Given the description of an element on the screen output the (x, y) to click on. 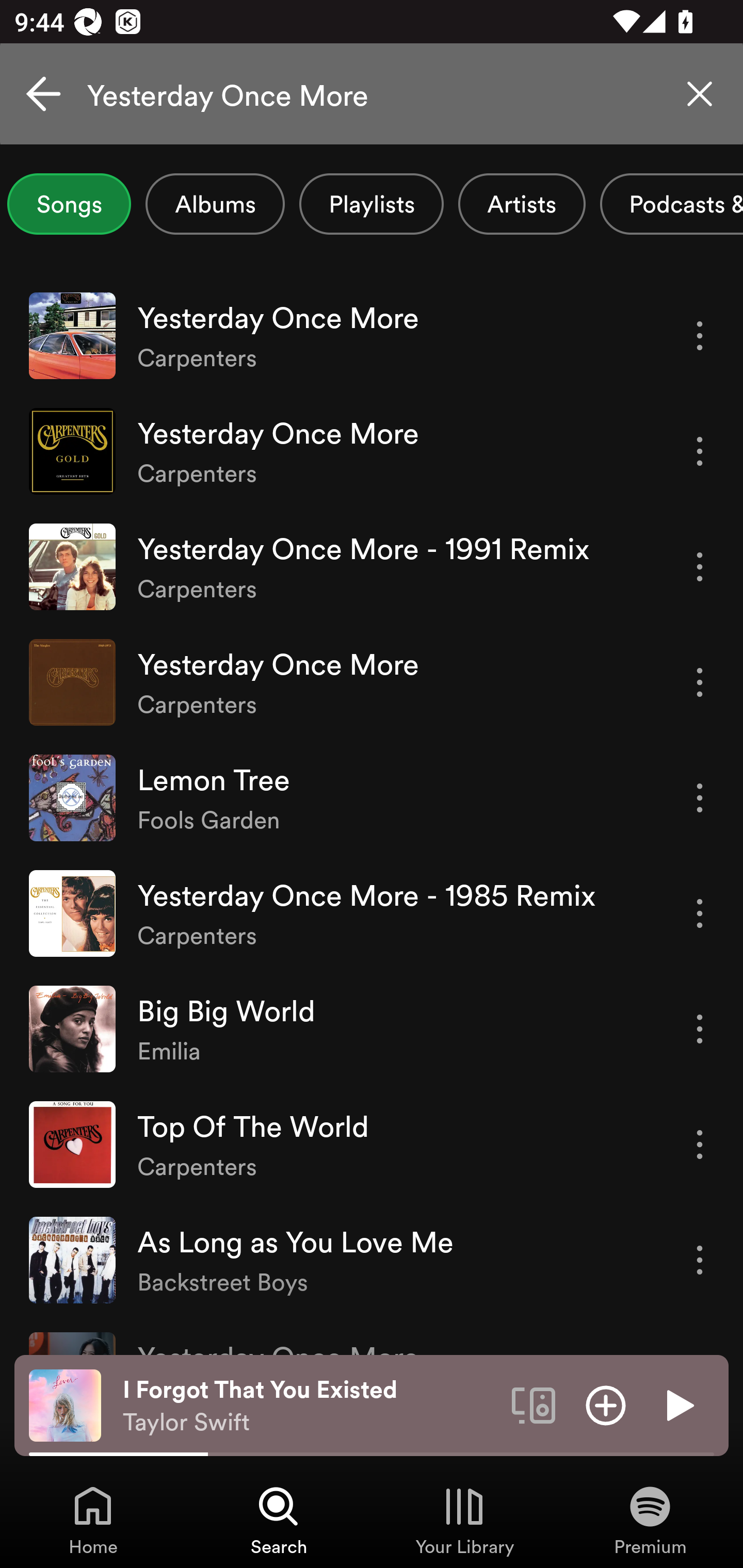
Yesterday Once More (371, 93)
Cancel (43, 93)
Clear search query (699, 93)
Songs (68, 203)
Albums (214, 203)
Playlists (371, 203)
Artists (521, 203)
Podcasts & Shows (671, 203)
More options for song Yesterday Once More (699, 336)
More options for song Yesterday Once More (699, 450)
More options for song Yesterday Once More (699, 682)
More options for song Lemon Tree (699, 798)
More options for song Big Big World (699, 1029)
More options for song Top Of The World (699, 1144)
More options for song As Long as You Love Me (699, 1259)
I Forgot That You Existed Taylor Swift (309, 1405)
The cover art of the currently playing track (64, 1404)
Connect to a device. Opens the devices menu (533, 1404)
Add item (605, 1404)
Play (677, 1404)
Home, Tab 1 of 4 Home Home (92, 1519)
Search, Tab 2 of 4 Search Search (278, 1519)
Your Library, Tab 3 of 4 Your Library Your Library (464, 1519)
Premium, Tab 4 of 4 Premium Premium (650, 1519)
